Given the description of an element on the screen output the (x, y) to click on. 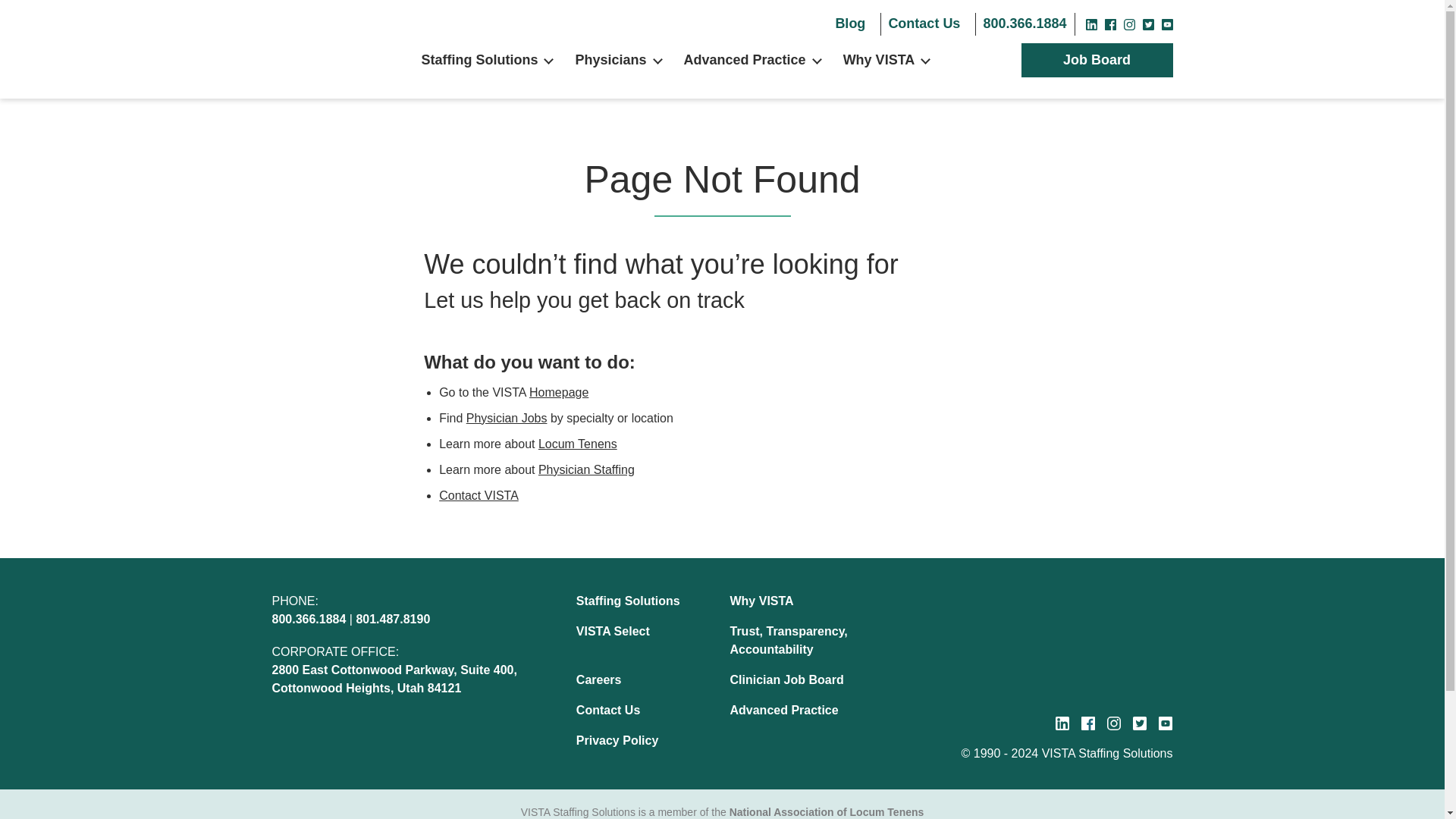
Advanced Practice (745, 60)
twitter (1139, 723)
Physician Jobs (506, 418)
Blog (849, 24)
800.366.1884 (1023, 24)
youtube (1167, 24)
Homepage (558, 391)
Job Board (1096, 60)
instagram (1113, 723)
Staffing Solutions (480, 60)
linkedin (1061, 723)
linkedin (1091, 24)
twitter (1147, 24)
instagram (1129, 24)
facebook (1087, 723)
